Given the description of an element on the screen output the (x, y) to click on. 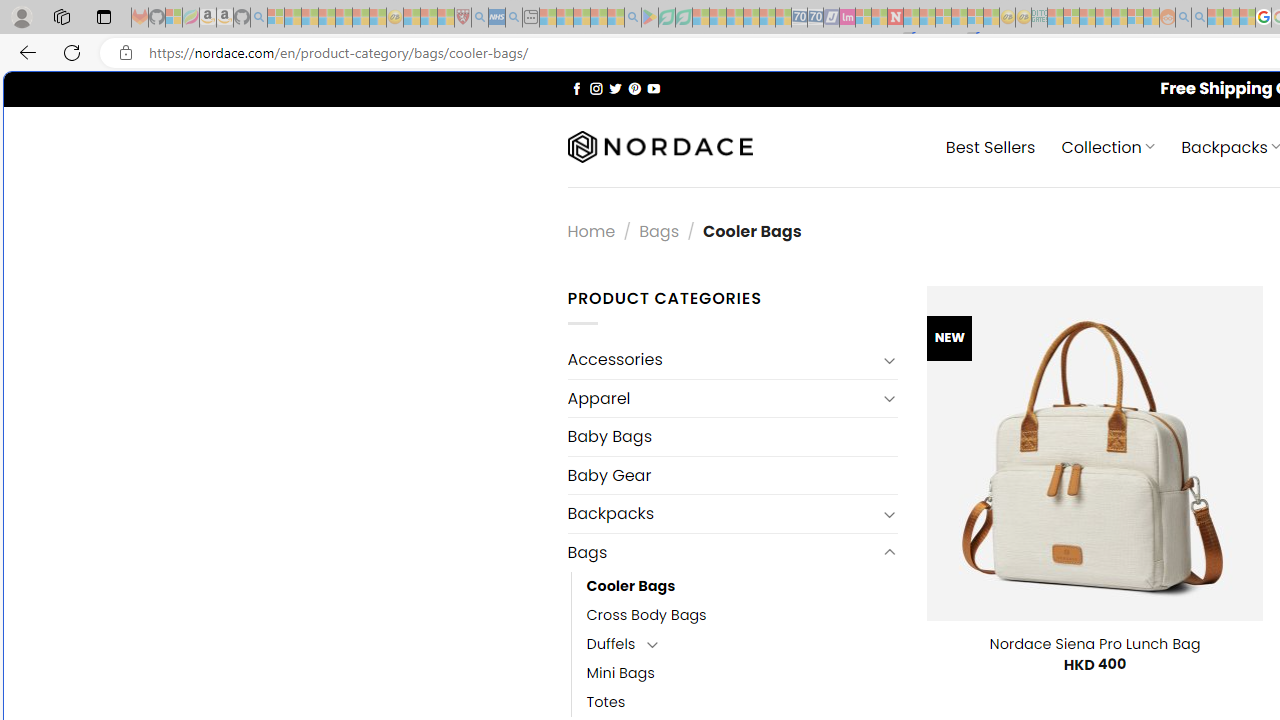
 Best Sellers (989, 146)
Bags (721, 552)
utah sues federal government - Search - Sleeping (513, 17)
Totes (742, 701)
